Given the description of an element on the screen output the (x, y) to click on. 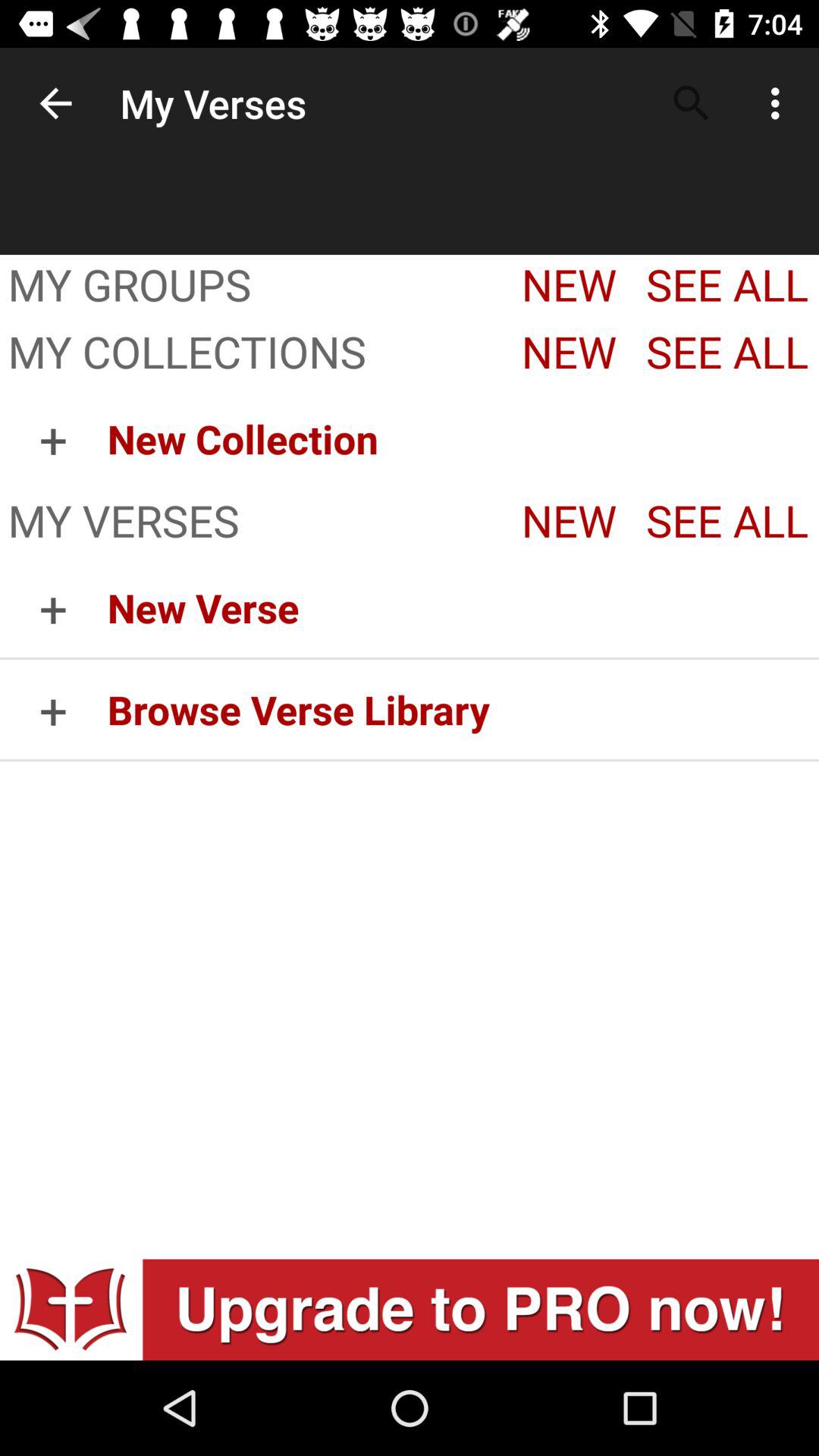
press the browse verse library icon (463, 709)
